Given the description of an element on the screen output the (x, y) to click on. 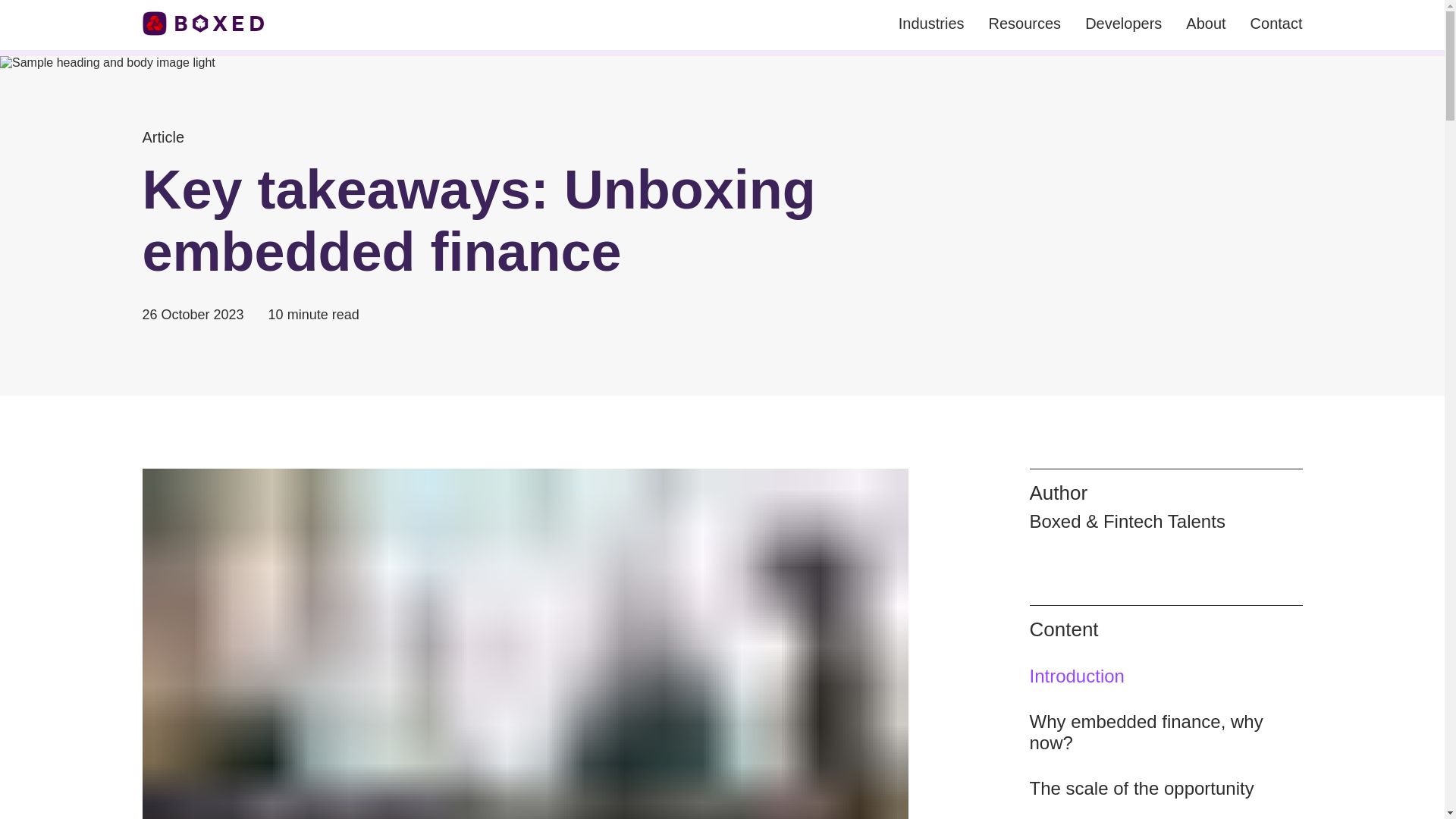
Contact (1276, 24)
Resources (1024, 24)
Introduction (1166, 676)
Developers (1122, 24)
